Given the description of an element on the screen output the (x, y) to click on. 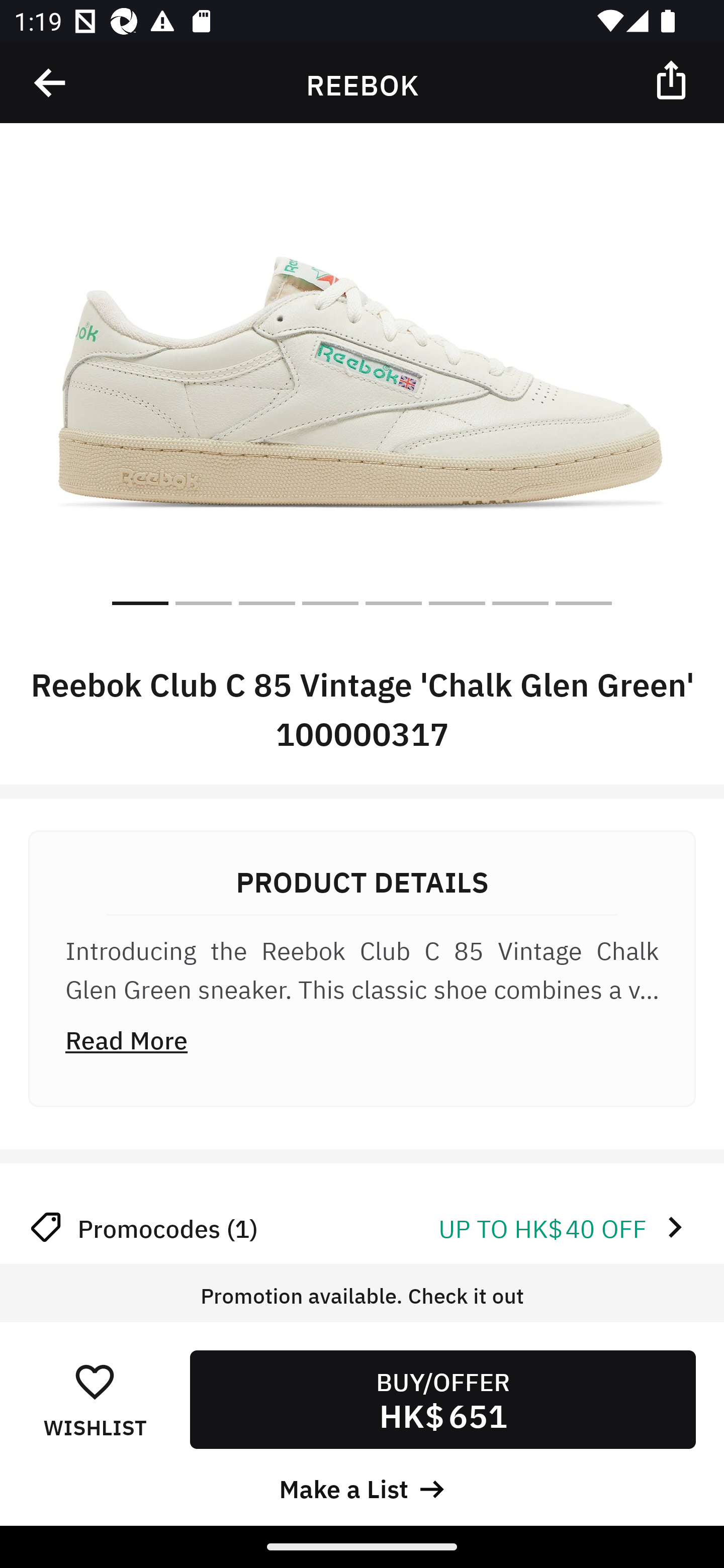
 (50, 83)
 (672, 79)
Promocodes (1) UP TO HK$ 40 OFF  (361, 1226)
BUY/OFFER HK$ 651 (442, 1399)
󰋕 (94, 1380)
Make a List (361, 1486)
